Given the description of an element on the screen output the (x, y) to click on. 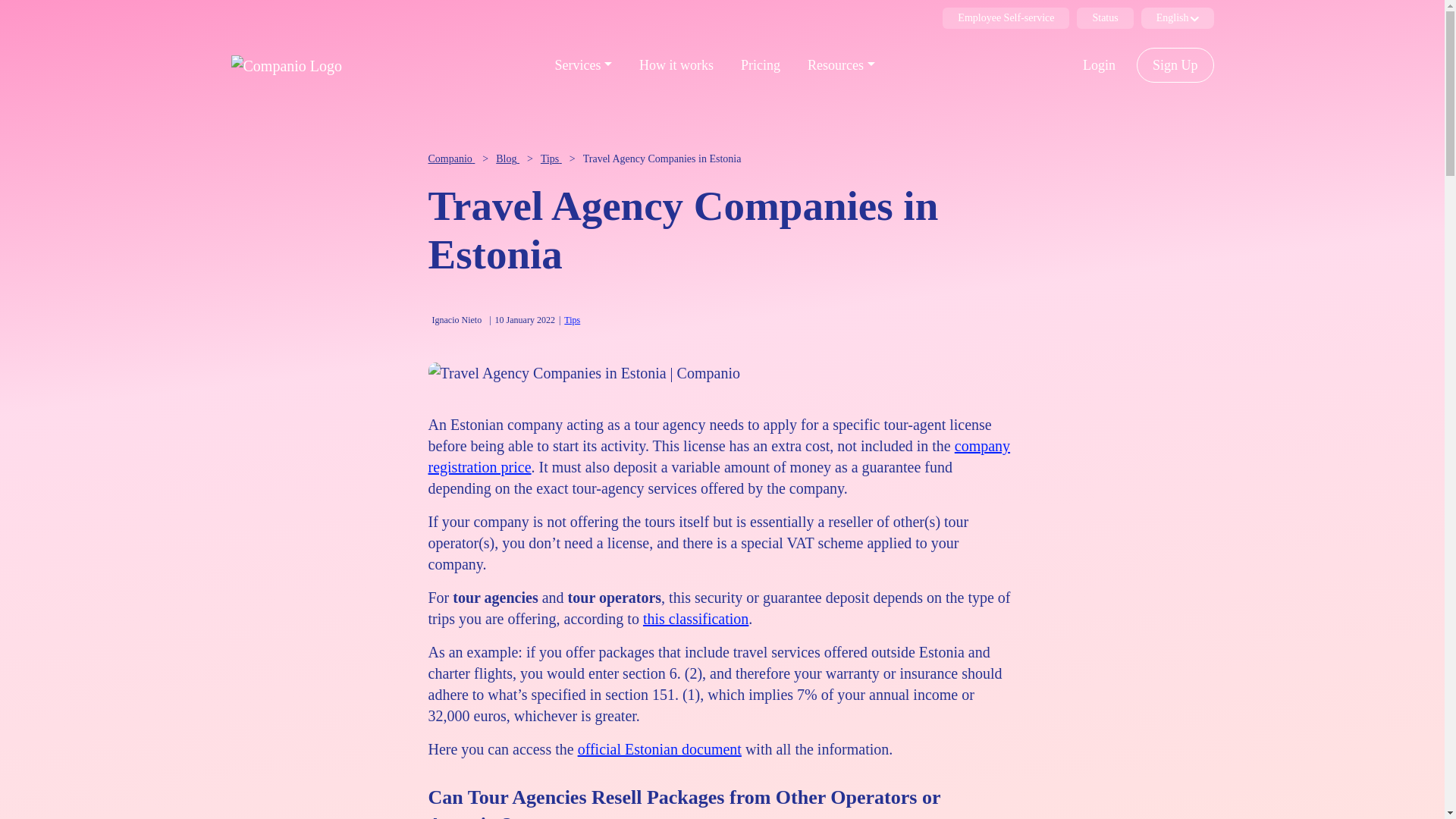
Status (1104, 17)
company registration price (719, 456)
Pricing (760, 64)
Employee Self-service (1005, 17)
Blog (507, 158)
this classification (695, 618)
Tips (571, 319)
Tips (551, 158)
Sign Up (1175, 64)
Resources (841, 64)
